Given the description of an element on the screen output the (x, y) to click on. 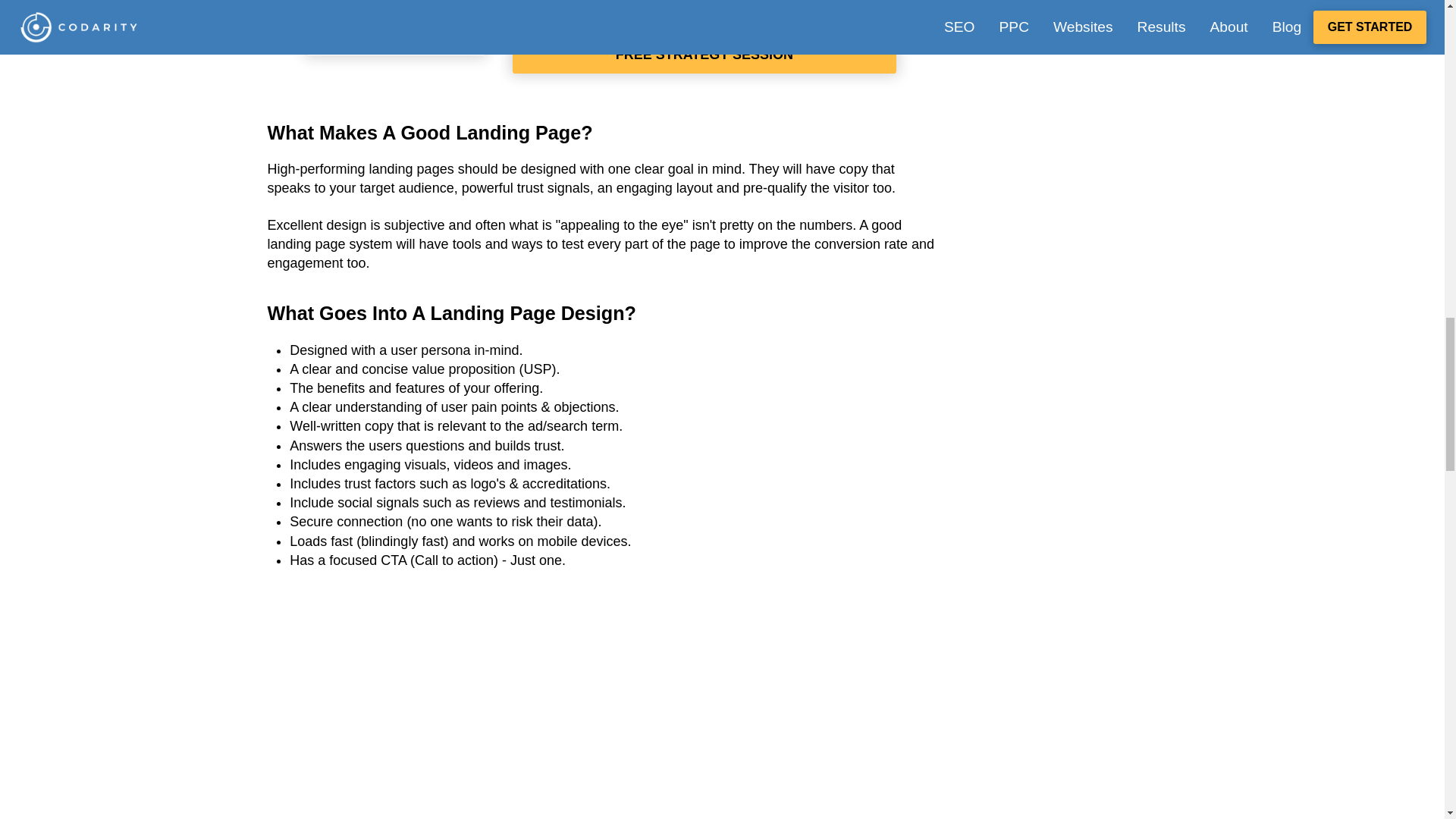
Landing Pages 3 (396, 25)
FREE STRATEGY SESSION (703, 54)
